Given the description of an element on the screen output the (x, y) to click on. 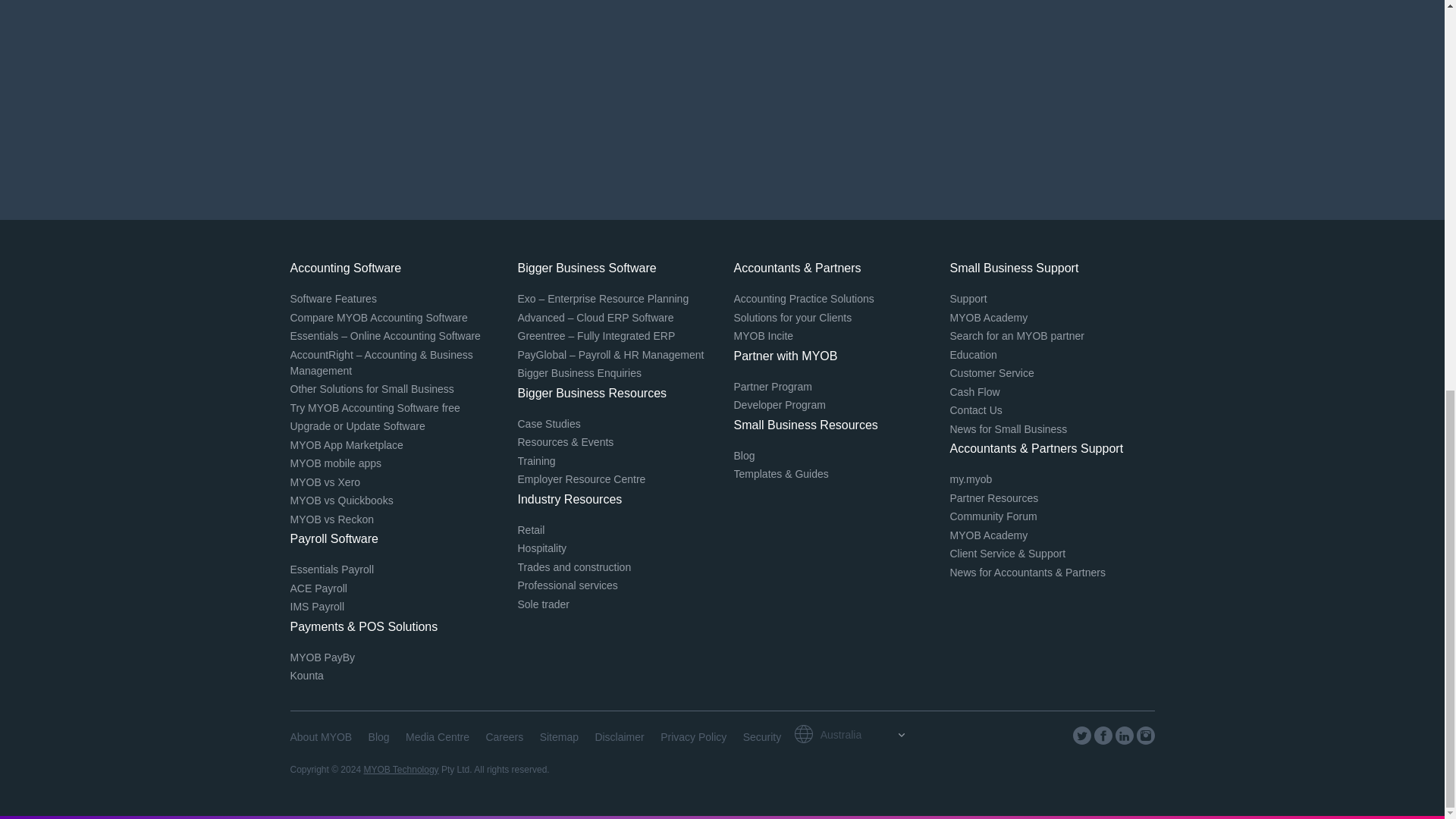
Compare MYOB Accounting Software (378, 317)
Essentials Payroll (331, 569)
MYOB vs Quickbooks (341, 500)
MYOB mobile apps (335, 463)
Upgrade or Update Software (357, 426)
Try MYOB Accounting Software free (374, 408)
Form 0 (721, 93)
Other Solutions for Small Business (370, 388)
MYOB vs Xero (324, 481)
Payroll Software (333, 538)
